Given the description of an element on the screen output the (x, y) to click on. 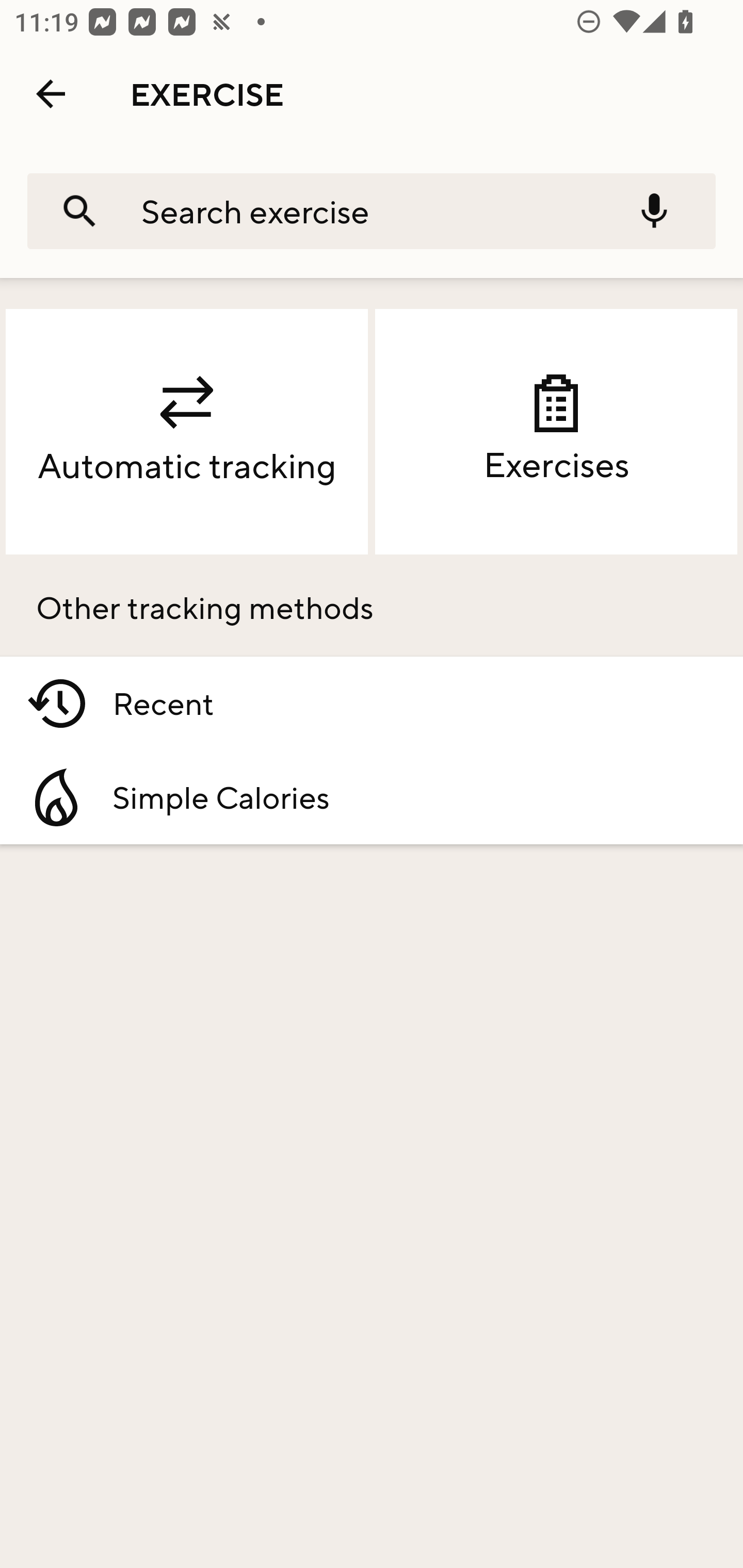
Navigate up (50, 93)
Search exercise (362, 210)
Automatic tracking (186, 431)
Exercises (556, 431)
Recent (371, 703)
Simple Calories (371, 797)
